Given the description of an element on the screen output the (x, y) to click on. 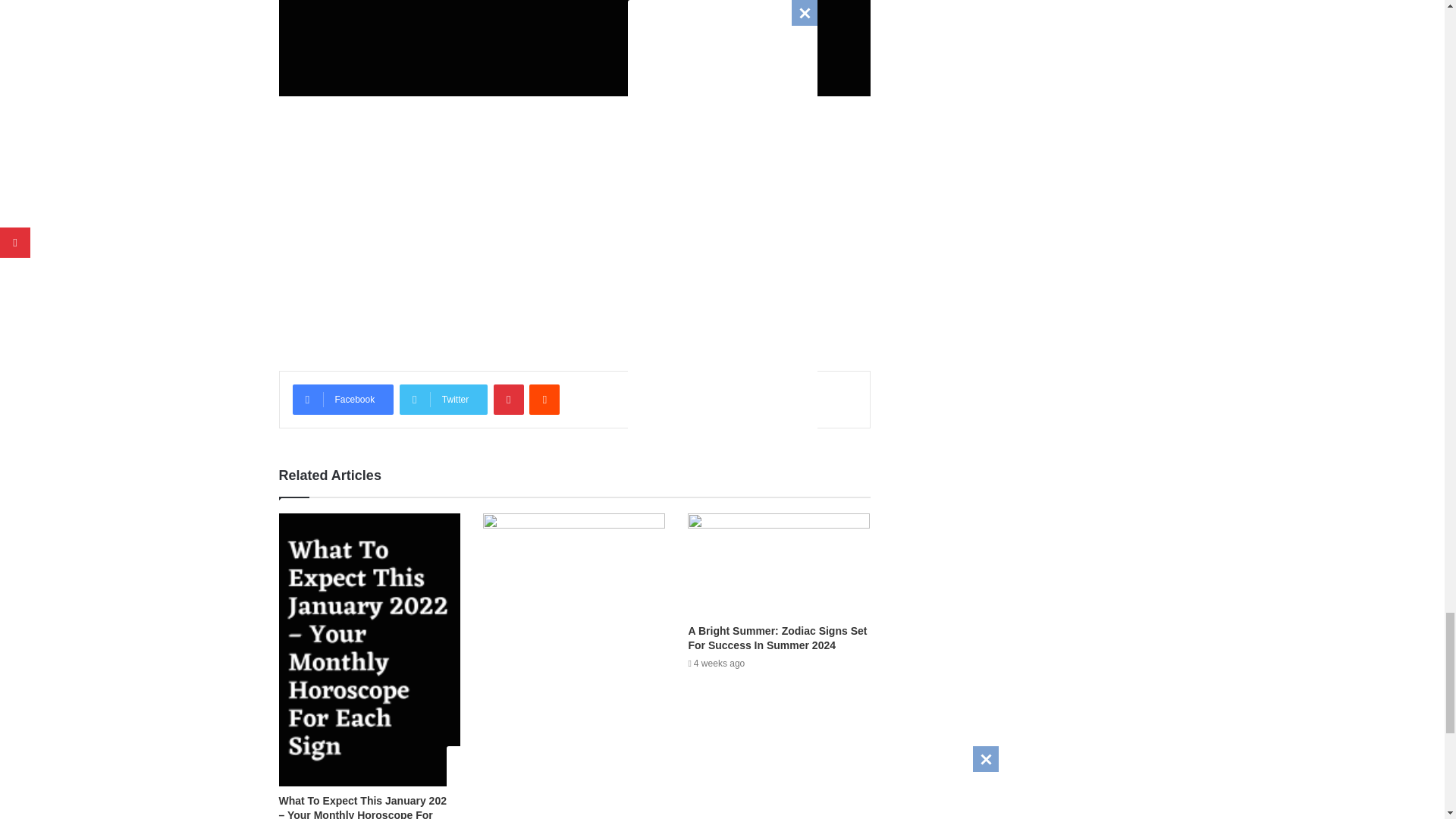
Twitter (442, 399)
Pinterest (508, 399)
Facebook (343, 399)
